Given the description of an element on the screen output the (x, y) to click on. 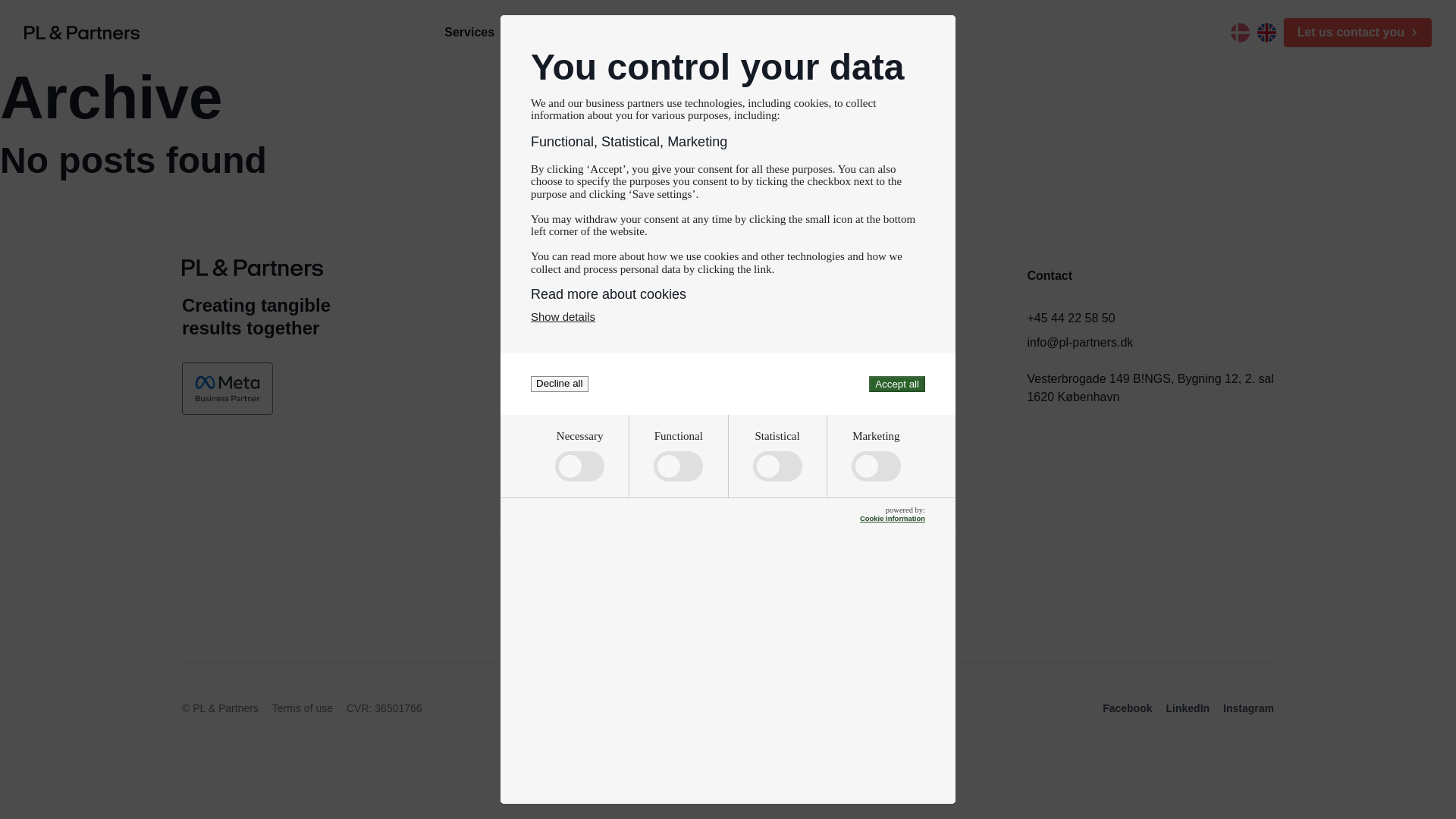
Read more about cookies (727, 294)
Show details (563, 316)
